Given the description of an element on the screen output the (x, y) to click on. 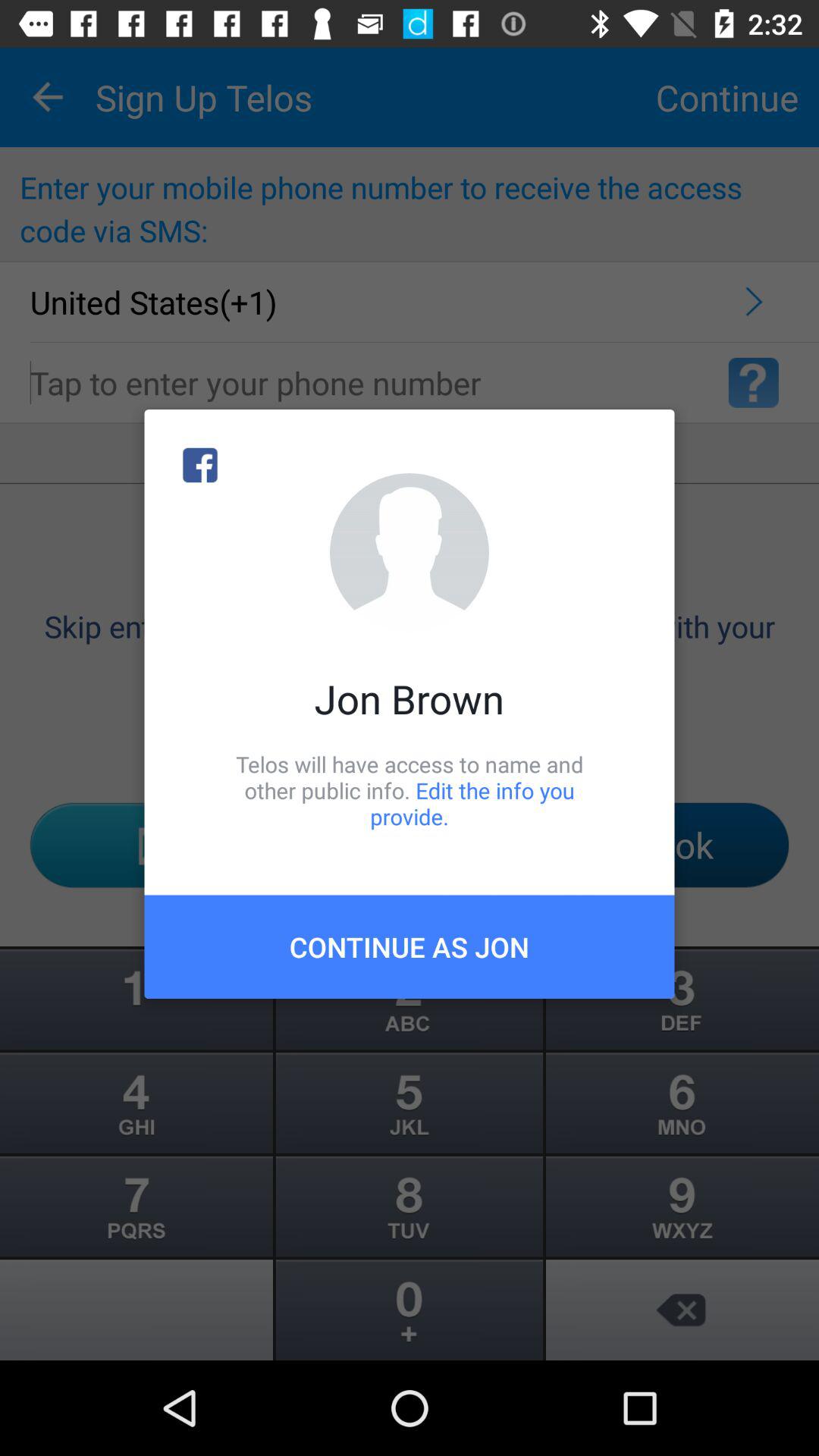
turn on item above the continue as jon (409, 790)
